Given the description of an element on the screen output the (x, y) to click on. 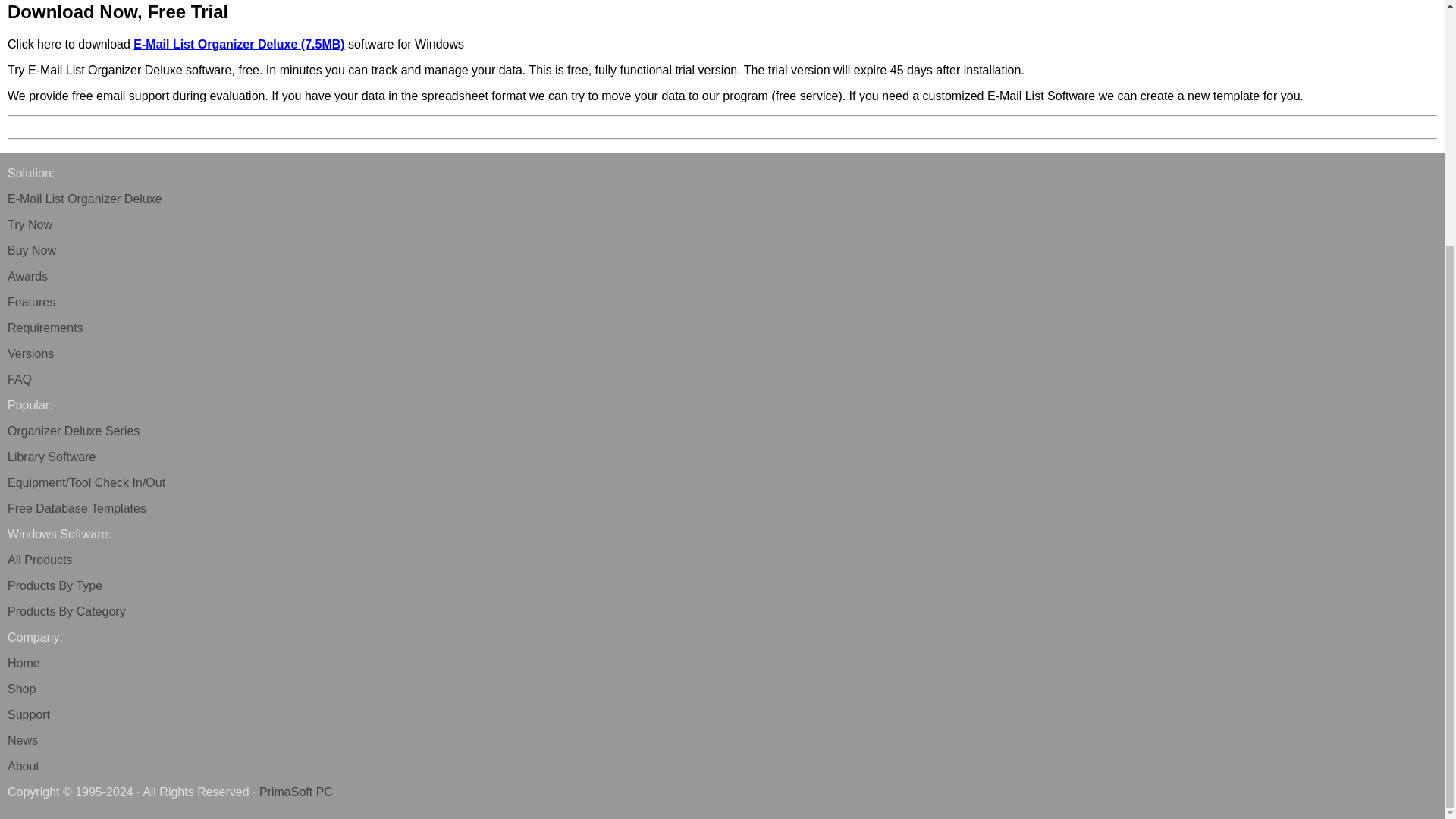
Support (28, 714)
Versions (30, 353)
Home (23, 662)
Products By Category (66, 611)
FAQ (19, 379)
Library Software (51, 456)
E-Mail List Organizer Deluxe (84, 198)
Products By Type (54, 585)
Requirements (44, 327)
Buy Now (31, 250)
Awards (27, 276)
Organizer Deluxe Series (73, 431)
Try Now (29, 224)
Free Database Templates (77, 508)
Shop (20, 688)
